Given the description of an element on the screen output the (x, y) to click on. 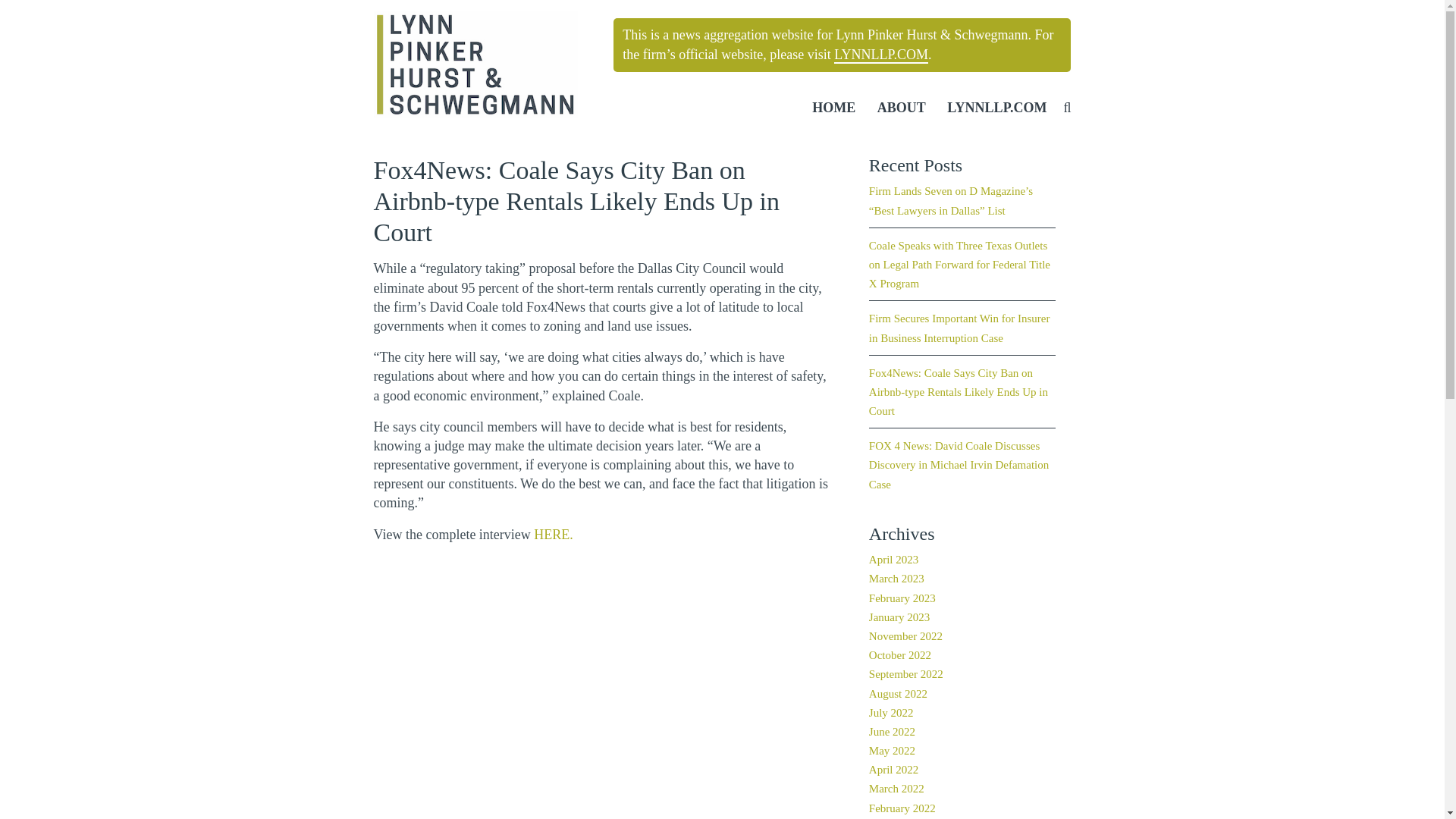
February 2023 (902, 599)
April 2022 (893, 770)
March 2023 (896, 579)
November 2022 (905, 636)
June 2022 (892, 732)
February 2022 (902, 808)
LYNNLLP.COM (996, 108)
July 2022 (891, 713)
September 2022 (906, 674)
May 2022 (892, 751)
HERE. (553, 535)
March 2022 (896, 789)
